Given the description of an element on the screen output the (x, y) to click on. 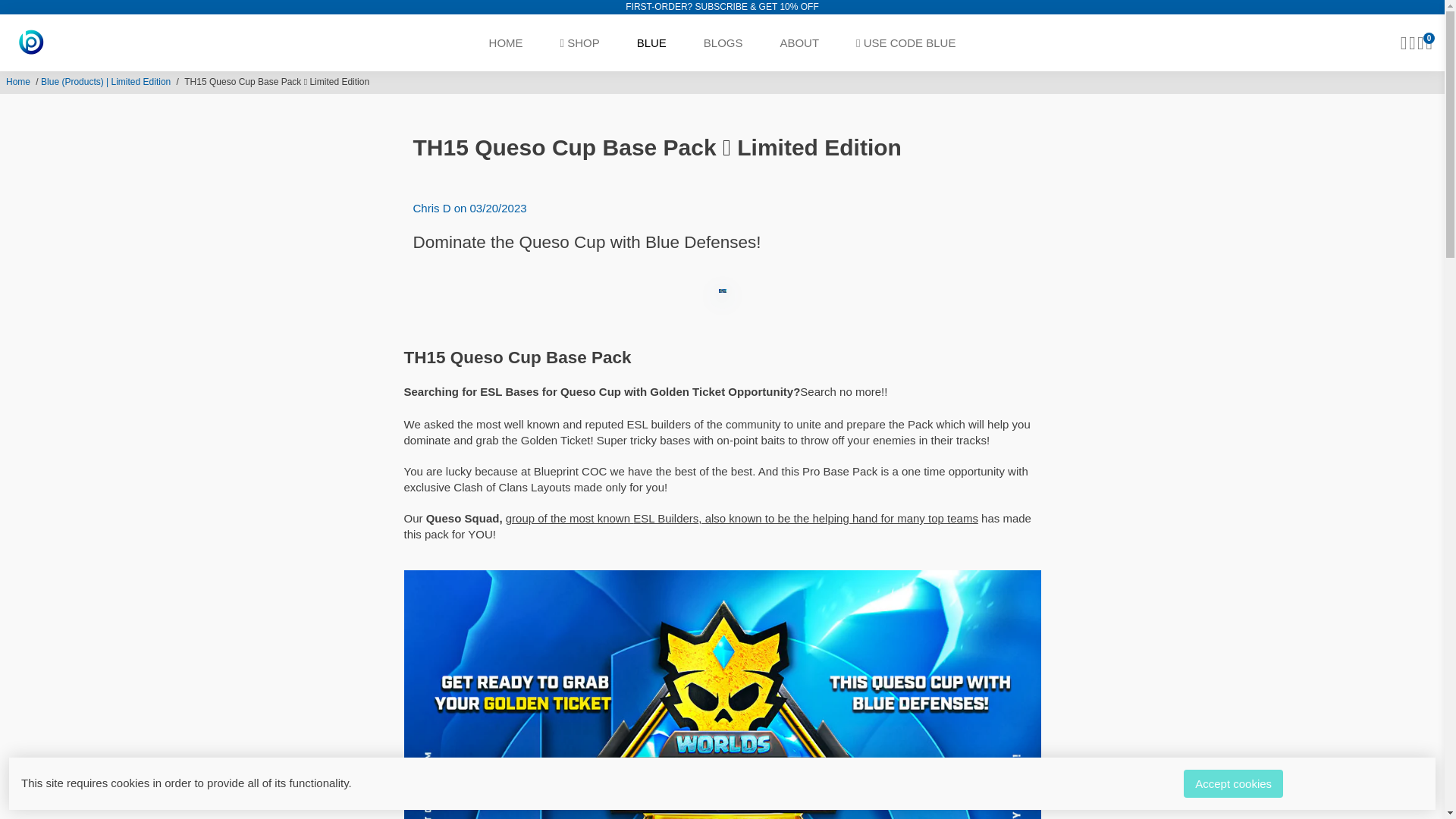
BLUE (651, 42)
Home (17, 81)
HOME (506, 42)
BLOGS (723, 42)
